Given the description of an element on the screen output the (x, y) to click on. 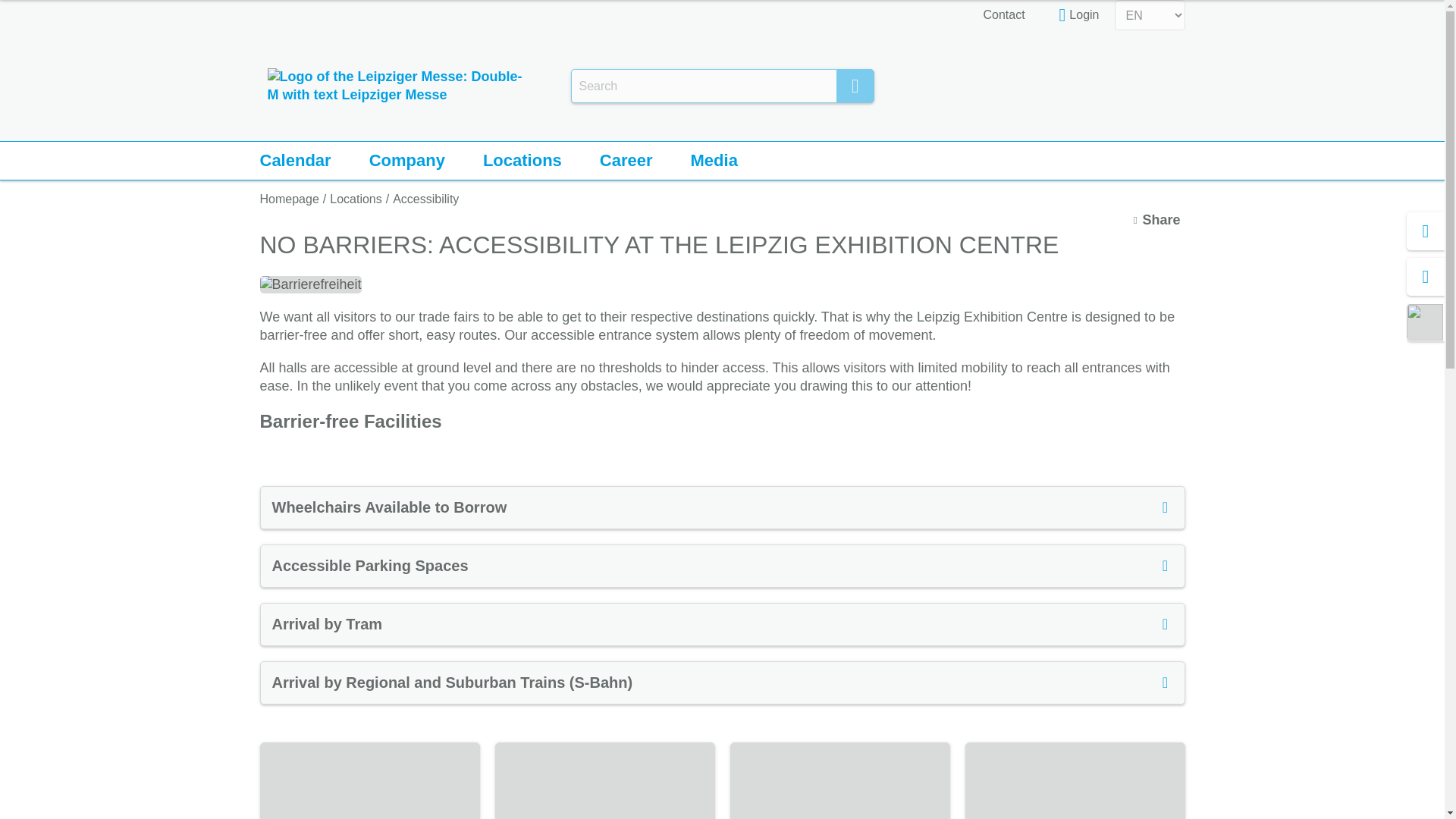
Accessibility (425, 199)
Locations (355, 199)
Locations (522, 160)
Company (406, 160)
Search (854, 85)
Barrierefreiheit (310, 284)
Enter search term (702, 85)
Calendar (294, 160)
Homepage (288, 199)
Login (1079, 15)
Contact (1003, 15)
360 Grad (839, 780)
